Given the description of an element on the screen output the (x, y) to click on. 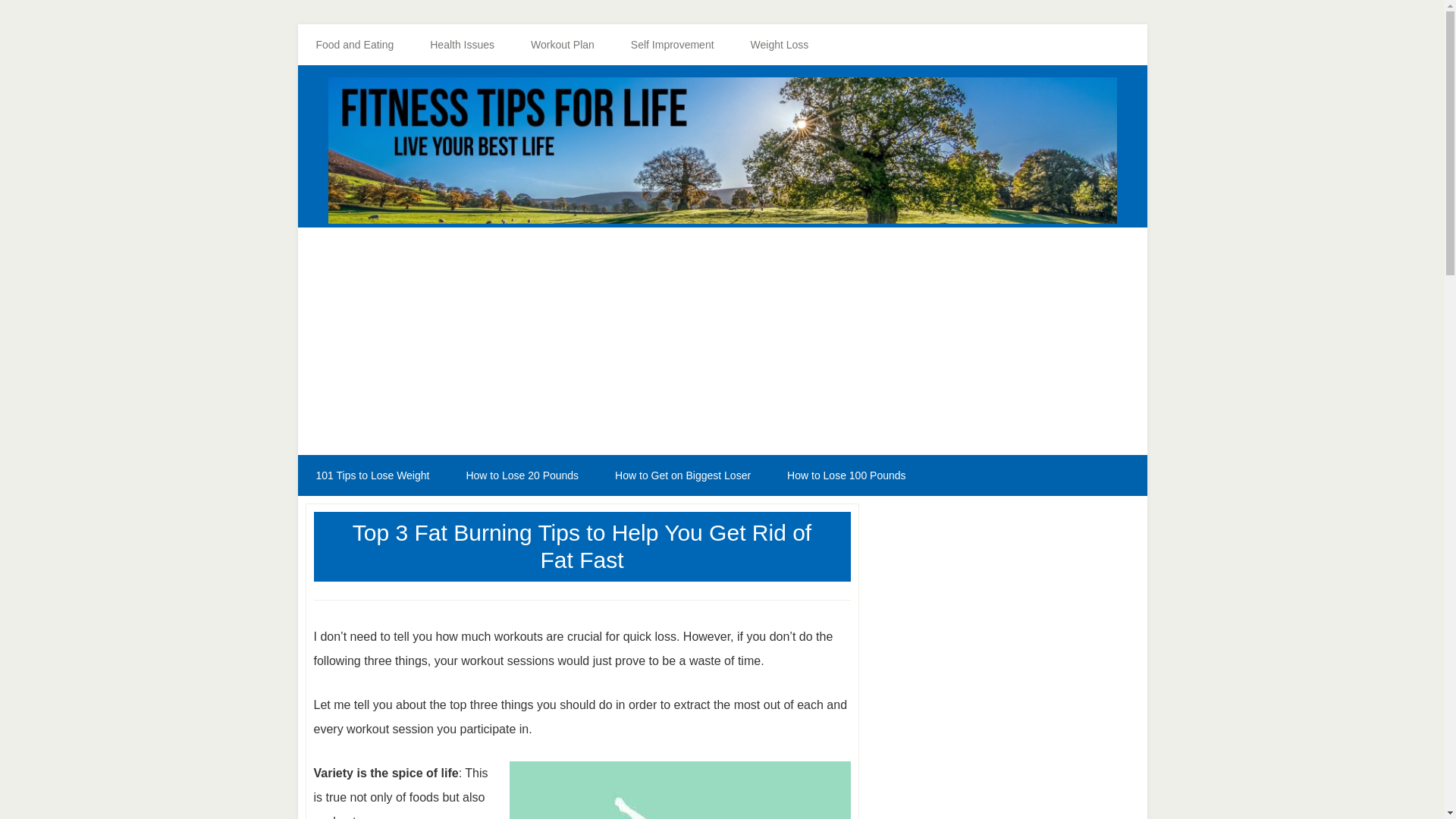
Weight Loss (779, 44)
101 Tips to Lose Weight (371, 475)
How to Get on Biggest Loser (682, 475)
Health Issues (462, 44)
How to Lose 100 Pounds (845, 475)
Fitness Tips for Life (721, 149)
Food and Eating (354, 44)
How to Lose 20 Pounds (521, 475)
